Given the description of an element on the screen output the (x, y) to click on. 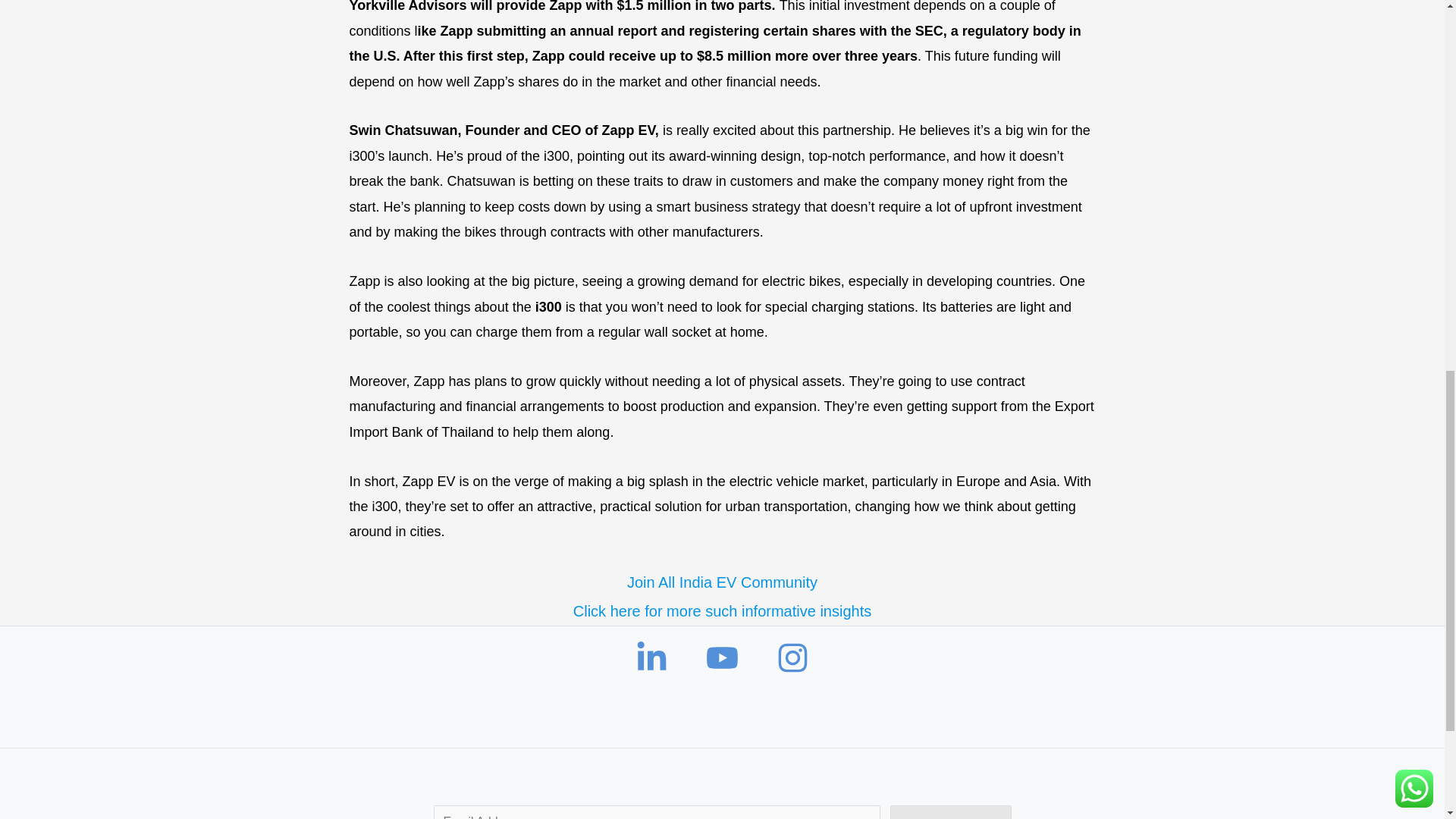
Join All India EV Community (721, 582)
Click here for more such informative insights (721, 610)
Submit (950, 812)
